Given the description of an element on the screen output the (x, y) to click on. 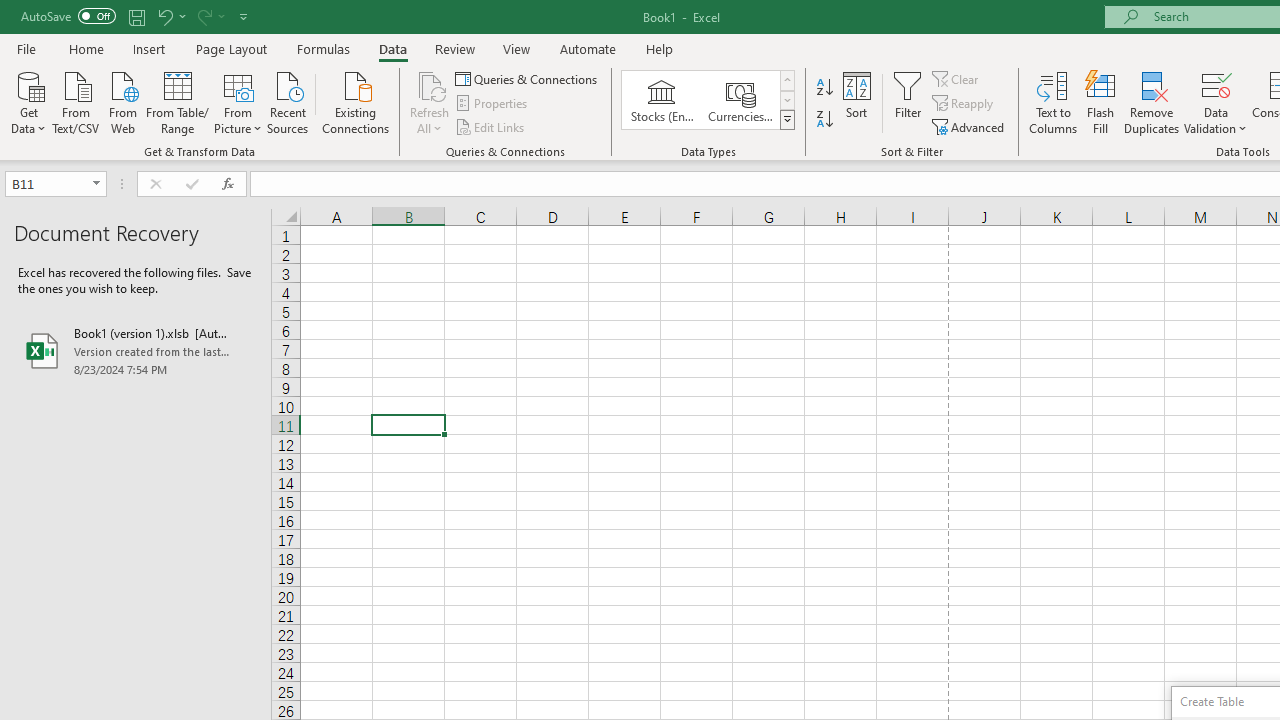
Customize Quick Access Toolbar (244, 15)
Text to Columns... (1053, 102)
Insert (149, 48)
Name Box (46, 183)
AutoSave (68, 16)
Existing Connections (355, 101)
File Tab (26, 48)
Filter (908, 102)
Redo (209, 15)
Data Types (786, 120)
Quick Access Toolbar (136, 16)
More Options (1215, 121)
From Web (122, 101)
Stocks (English) (662, 100)
System (10, 11)
